Given the description of an element on the screen output the (x, y) to click on. 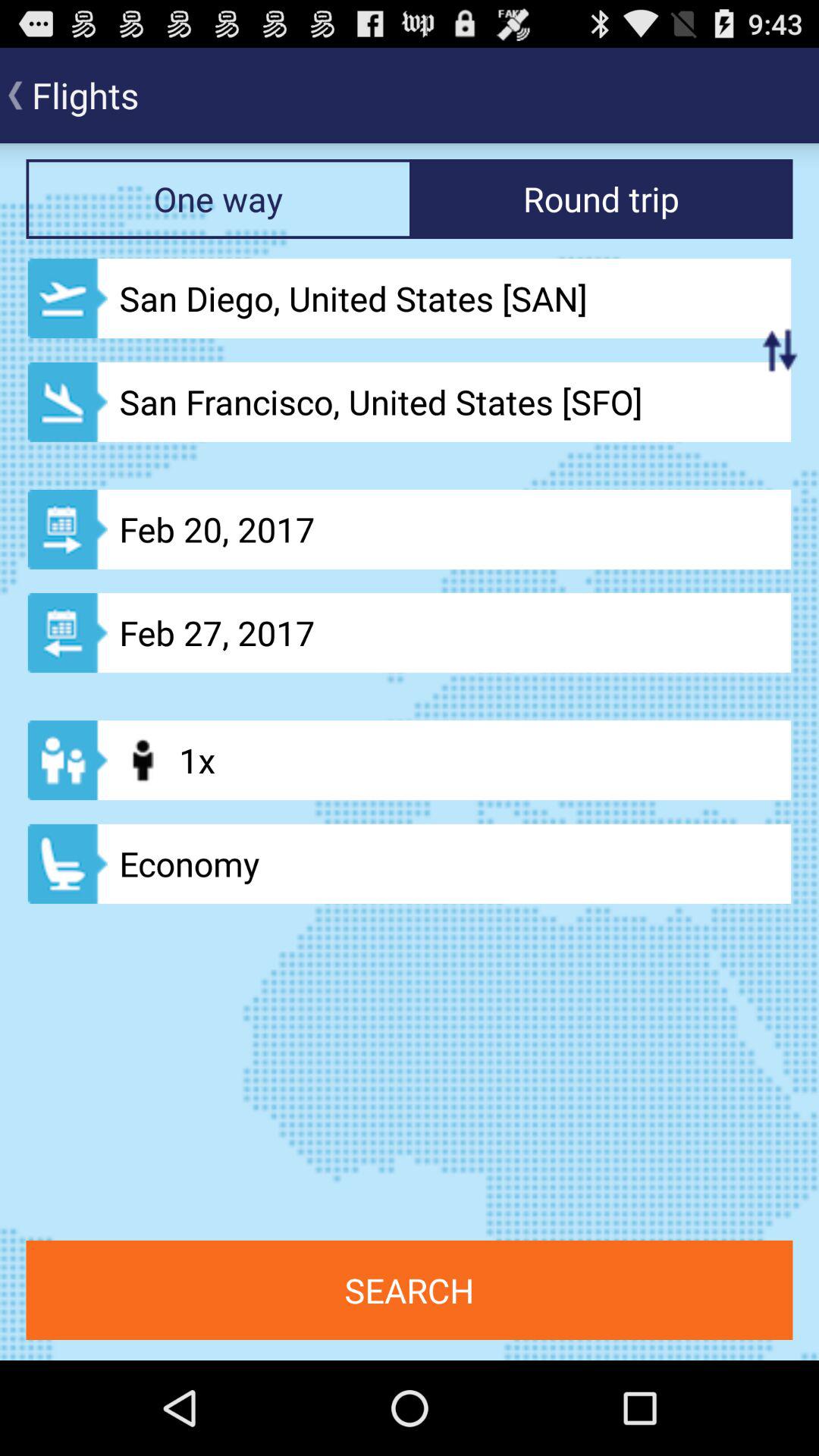
swap trips (780, 350)
